Given the description of an element on the screen output the (x, y) to click on. 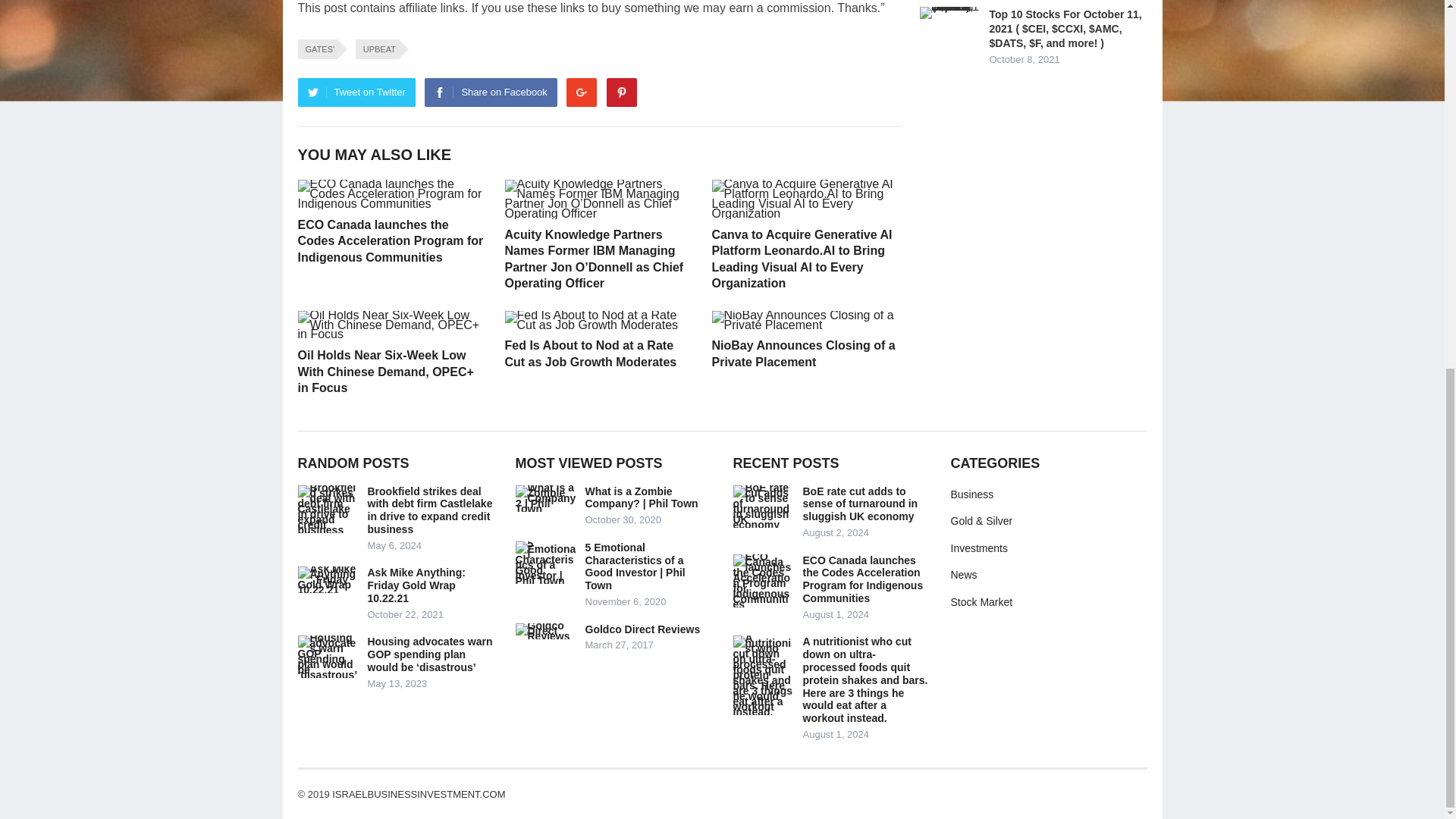
Pinterest (622, 92)
GATES' (317, 48)
Tweet on Twitter (355, 92)
Share on Facebook (490, 92)
UPBEAT (376, 48)
